Given the description of an element on the screen output the (x, y) to click on. 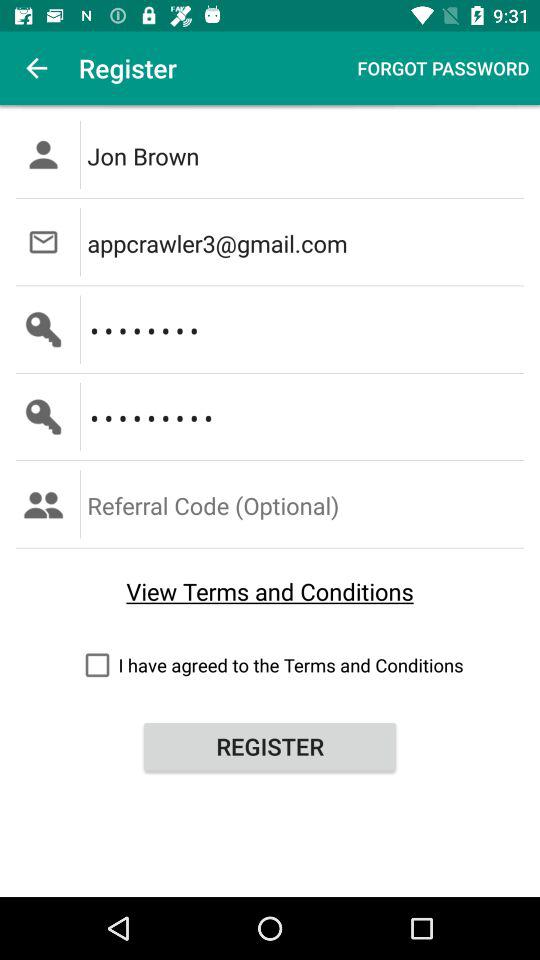
swipe to forgot password item (443, 67)
